Given the description of an element on the screen output the (x, y) to click on. 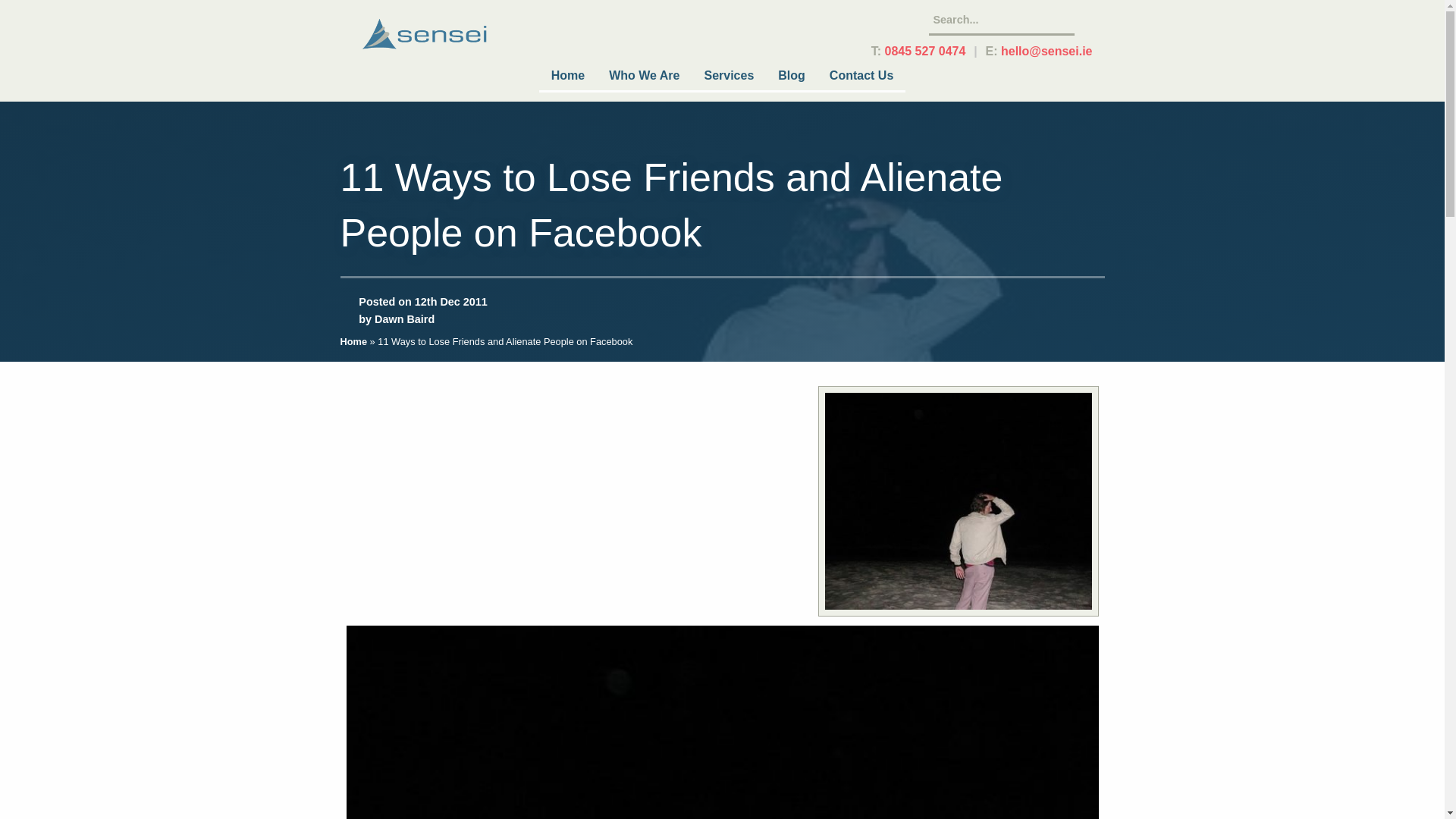
Services (728, 76)
12th Dec 2011 (450, 301)
Who We Are (643, 76)
Contact Us (860, 76)
Search for: (1001, 20)
Blog (790, 76)
Home (567, 76)
Dawn Baird (403, 318)
0845 527 0474 (925, 51)
